Given the description of an element on the screen output the (x, y) to click on. 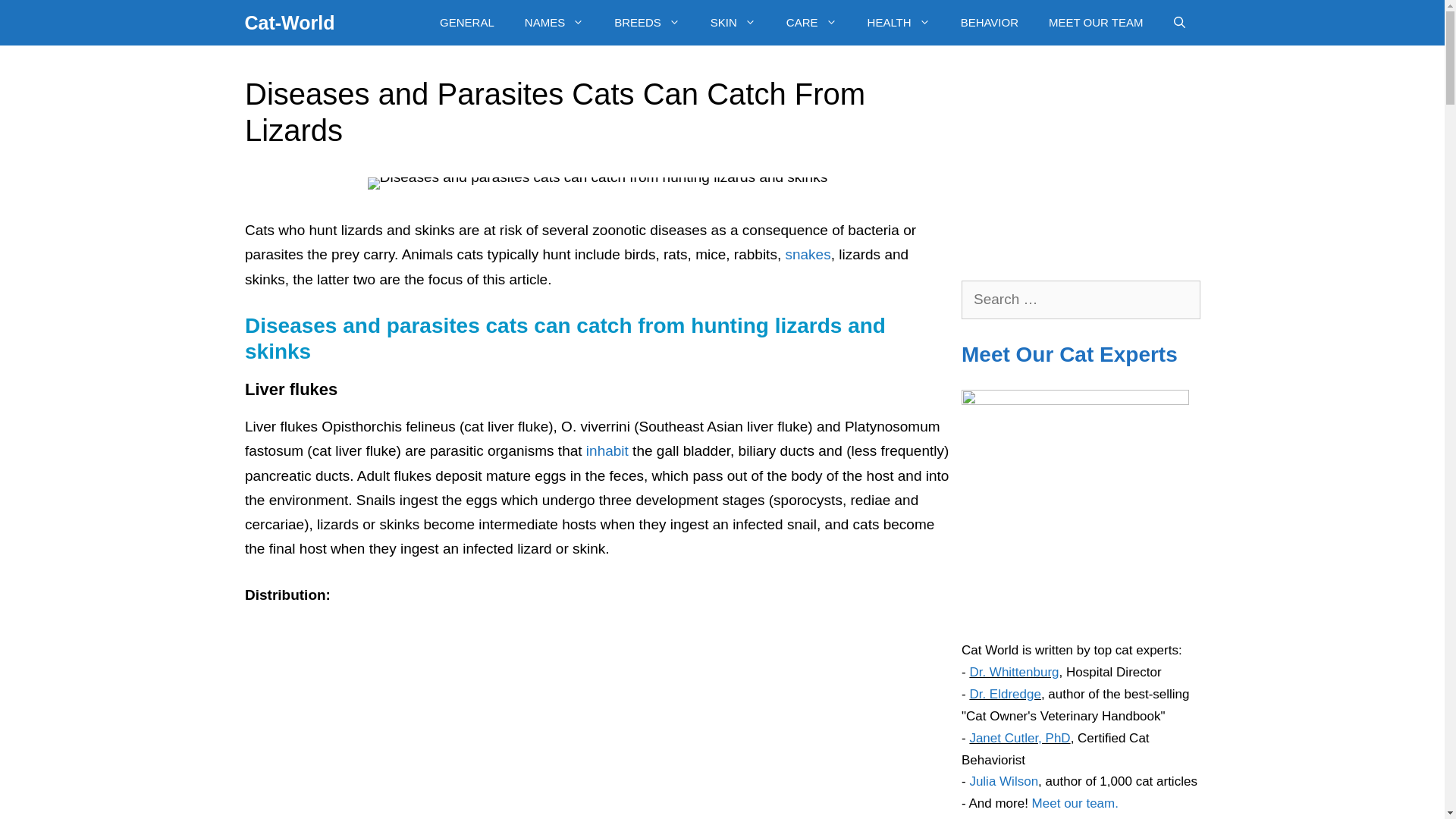
Search for: (1079, 299)
